Given the description of an element on the screen output the (x, y) to click on. 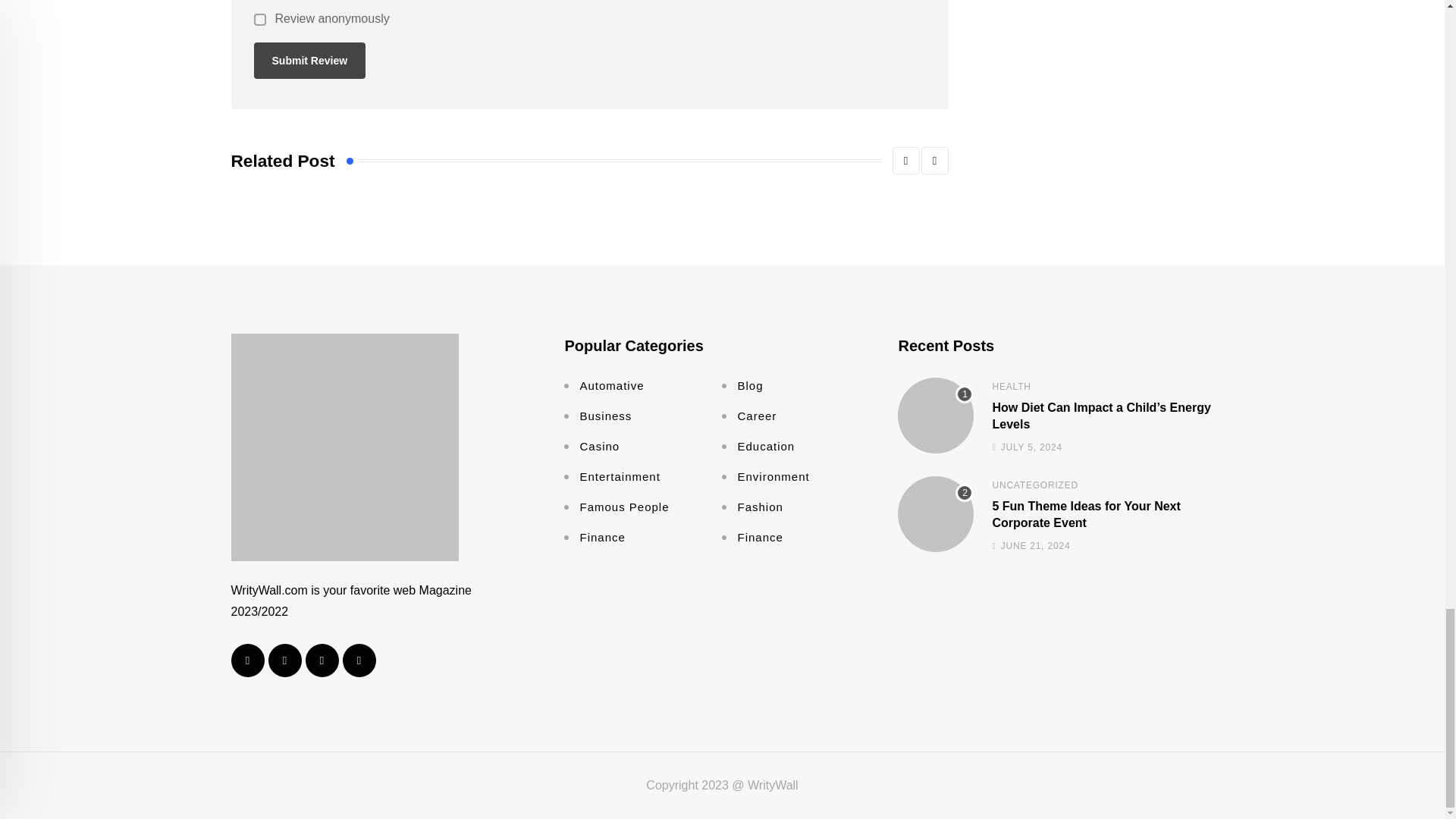
5 Fun Theme Ideas for Your Next Corporate Event (936, 513)
Submit Review (309, 60)
